Given the description of an element on the screen output the (x, y) to click on. 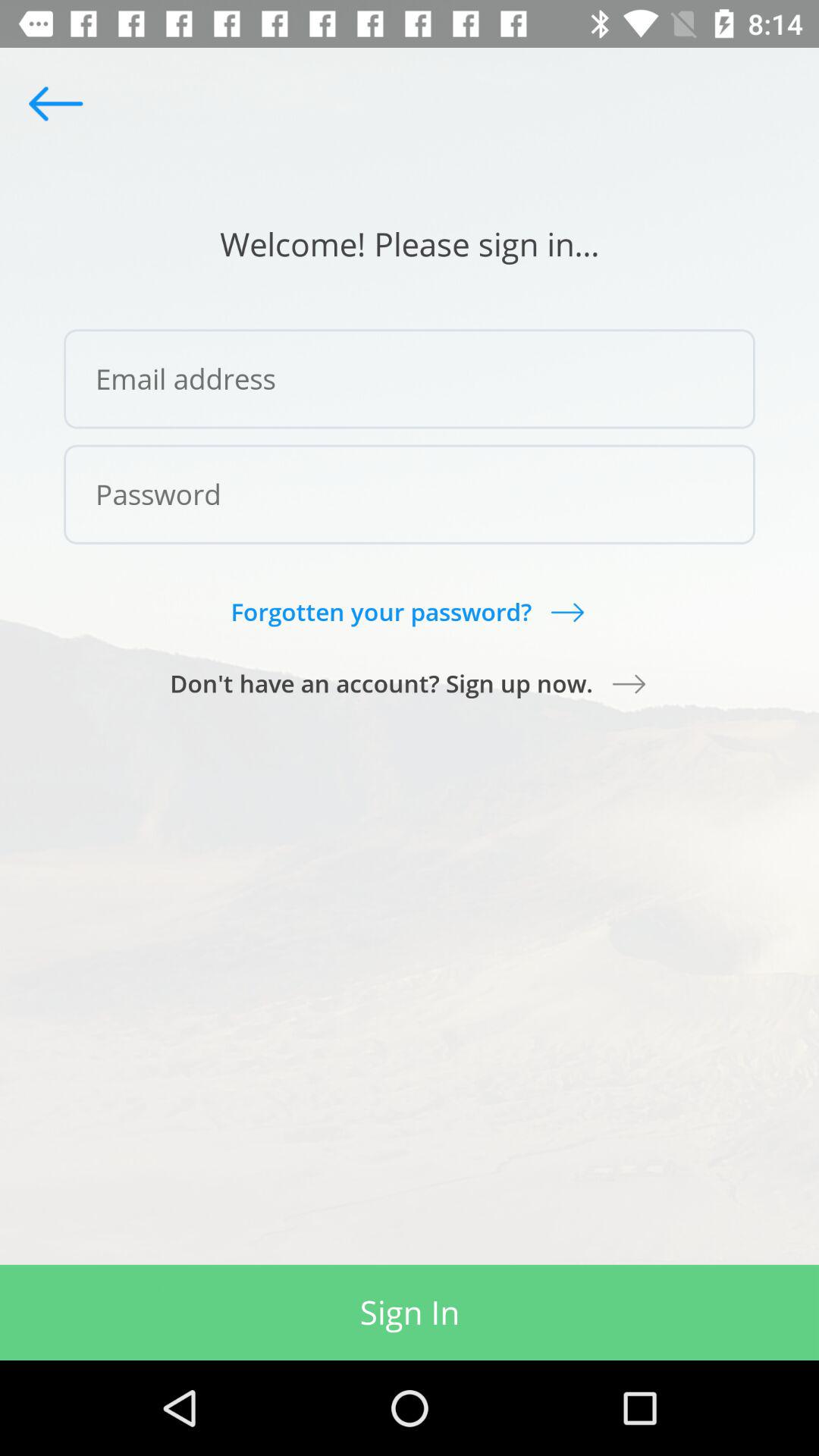
choose forgotten your password? item (408, 611)
